Given the description of an element on the screen output the (x, y) to click on. 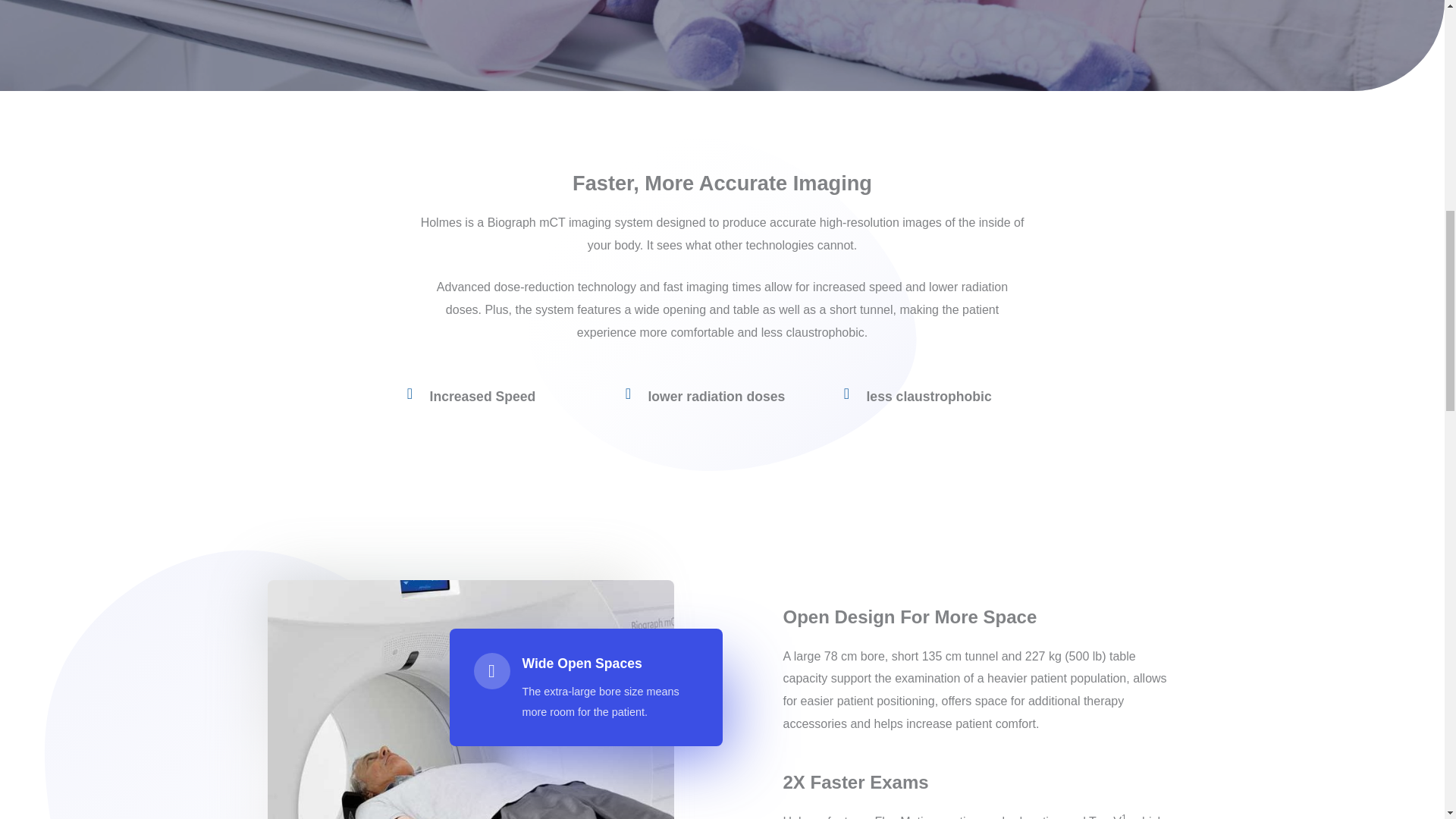
siemens-bore (469, 699)
